Given the description of an element on the screen output the (x, y) to click on. 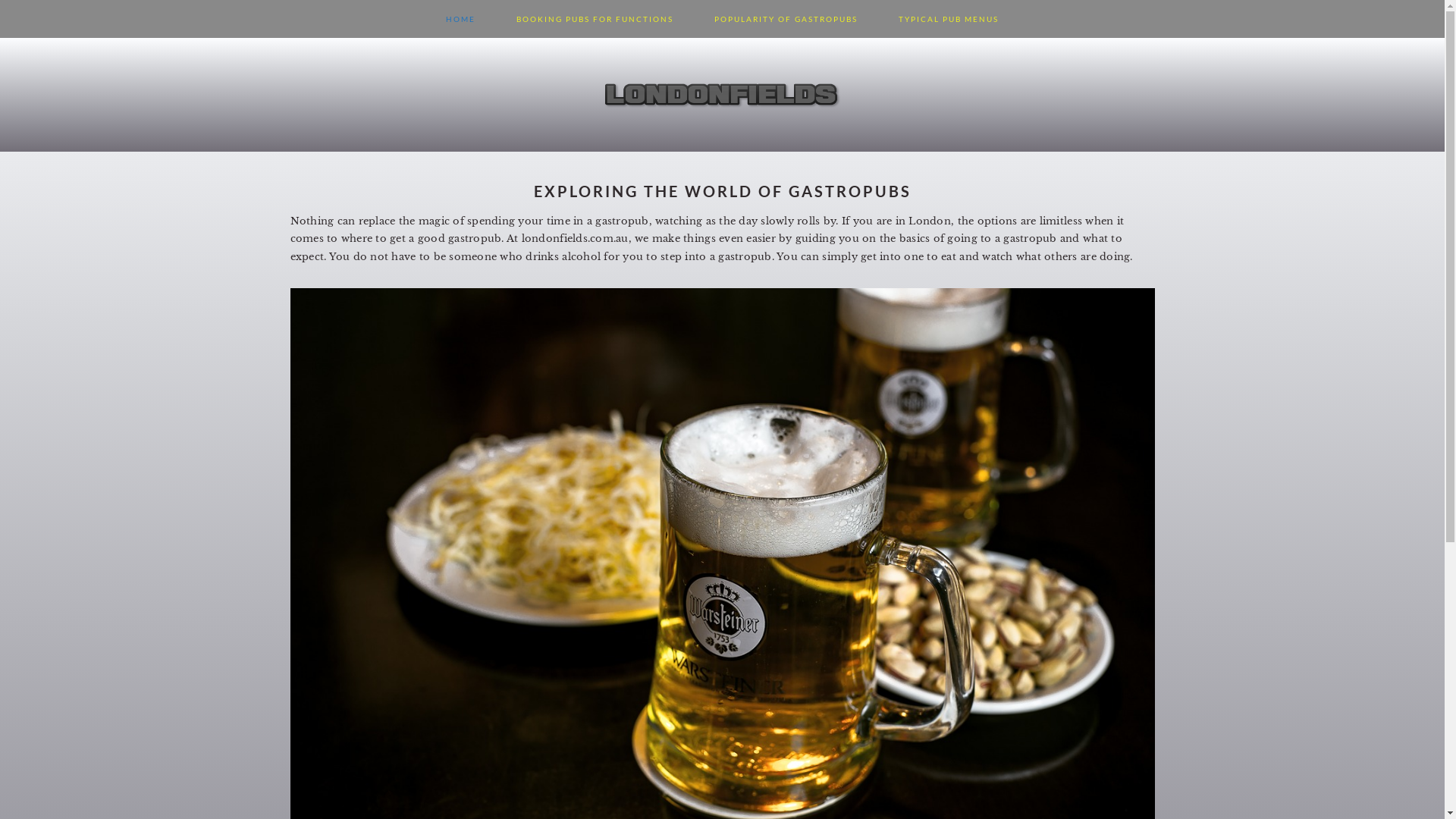
POPULARITY OF GASTROPUBS Element type: text (785, 18)
HOME Element type: text (460, 18)
TYPICAL PUB MENUS Element type: text (948, 18)
Skip to primary navigation Element type: text (0, 0)
BOOKING PUBS FOR FUNCTIONS Element type: text (594, 18)
LONDONFIELDS.COM.AU Element type: text (721, 136)
